Given the description of an element on the screen output the (x, y) to click on. 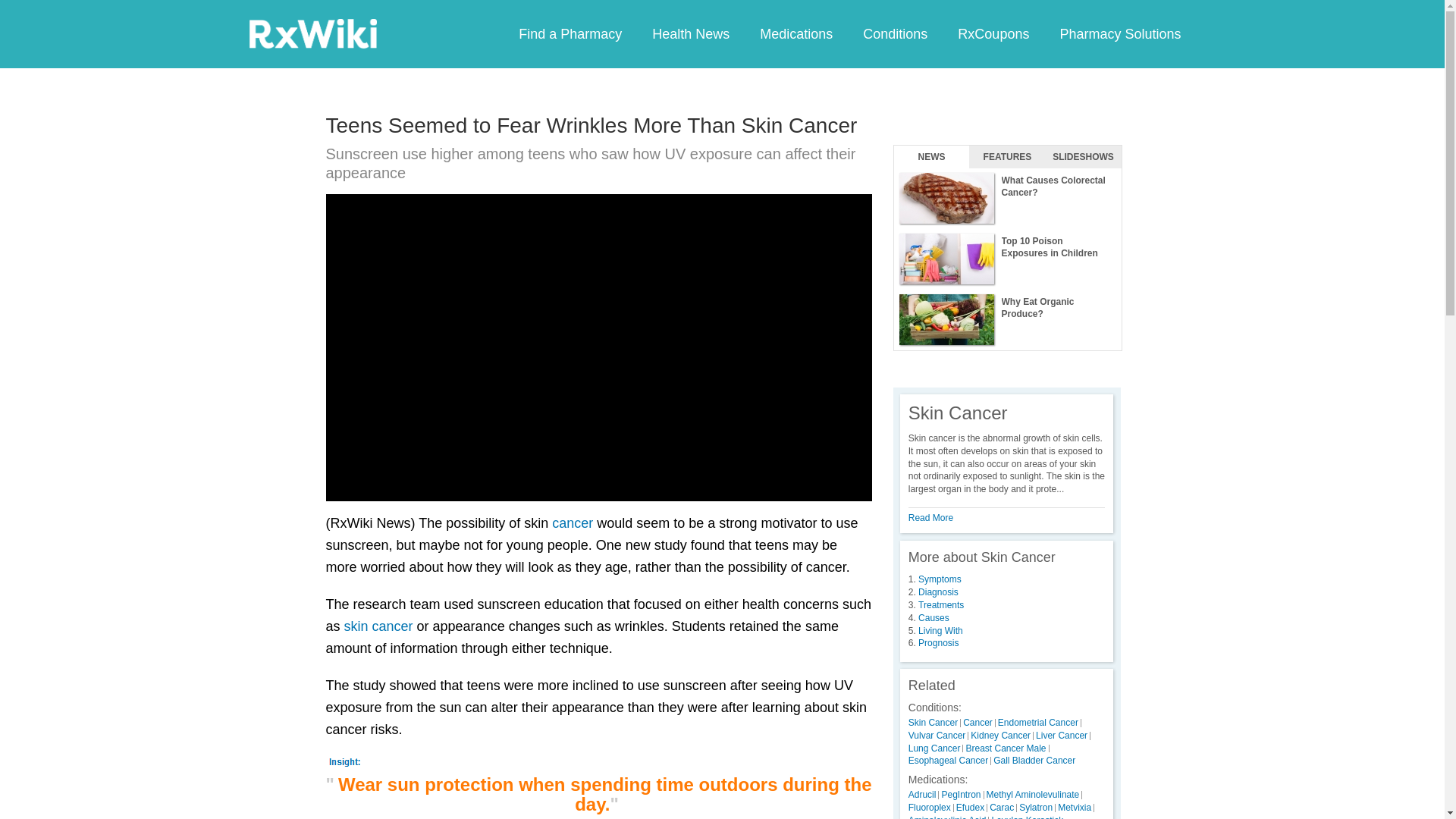
NEWS (931, 156)
Medications (795, 33)
FEATURES (1007, 156)
Health News (690, 33)
Conditions (894, 33)
Read More (930, 517)
RxCoupons (992, 33)
Pharmacy Solutions (1119, 33)
Find a Pharmacy (570, 33)
RxWiki (312, 32)
